Given the description of an element on the screen output the (x, y) to click on. 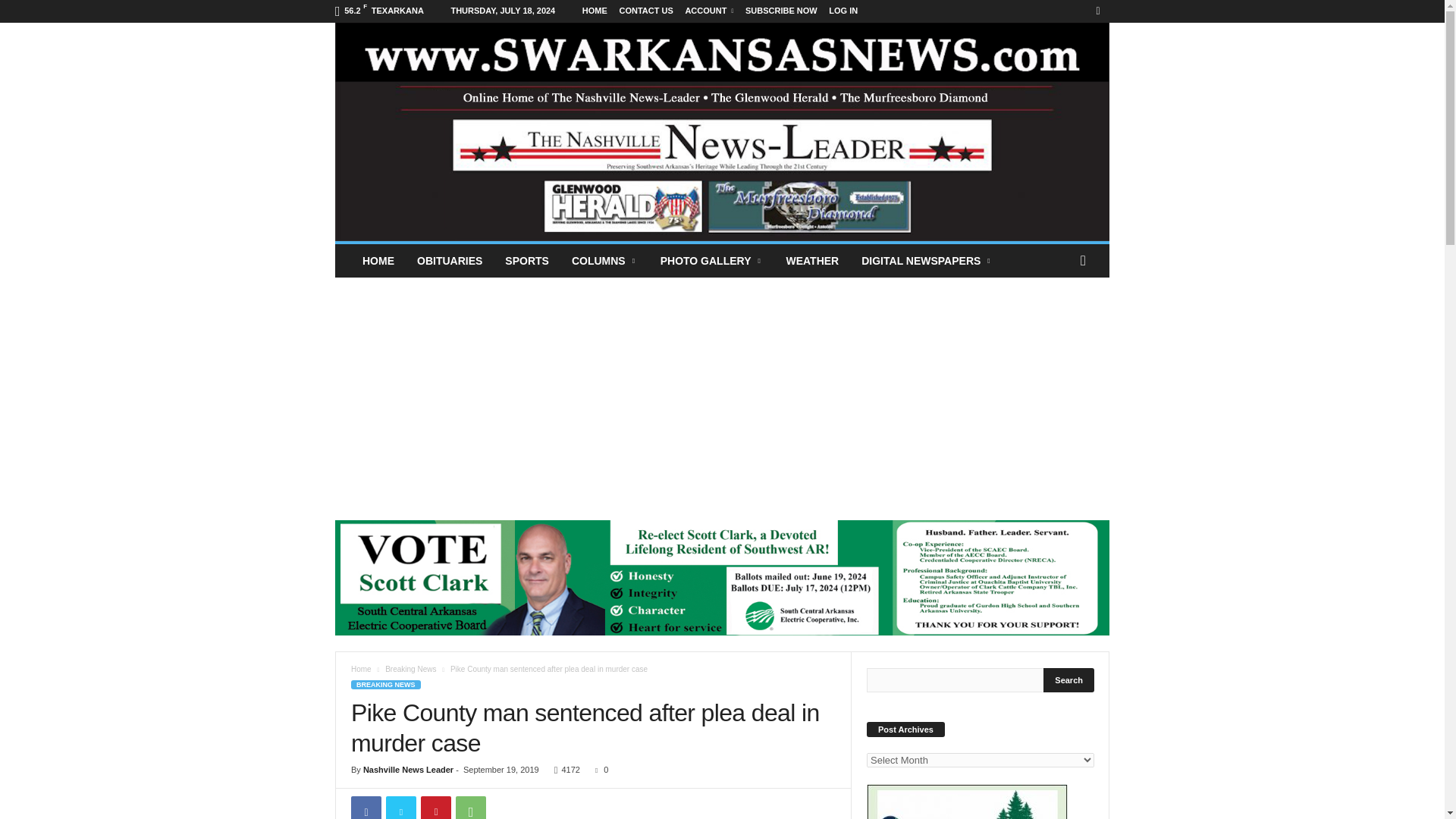
View all posts in Breaking News (410, 669)
CONTACT US (645, 10)
HOME (378, 260)
Facebook (365, 807)
LOG IN (842, 10)
Pinterest (435, 807)
SUBSCRIBE NOW (780, 10)
OBITUARIES (449, 260)
ACCOUNT (708, 10)
WhatsApp (470, 807)
Twitter (400, 807)
HOME (594, 10)
